Given the description of an element on the screen output the (x, y) to click on. 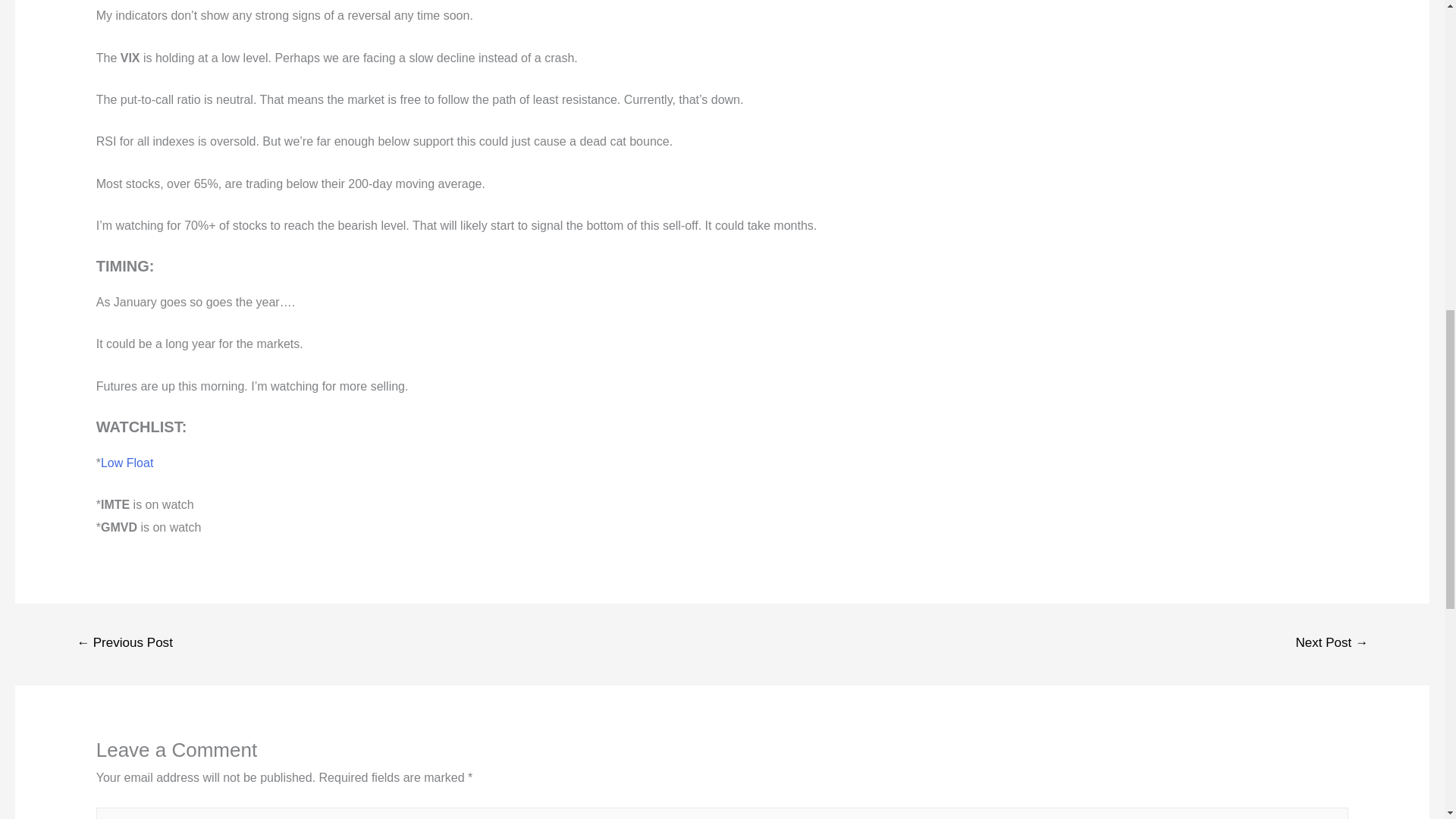
Low Float (126, 462)
